Given the description of an element on the screen output the (x, y) to click on. 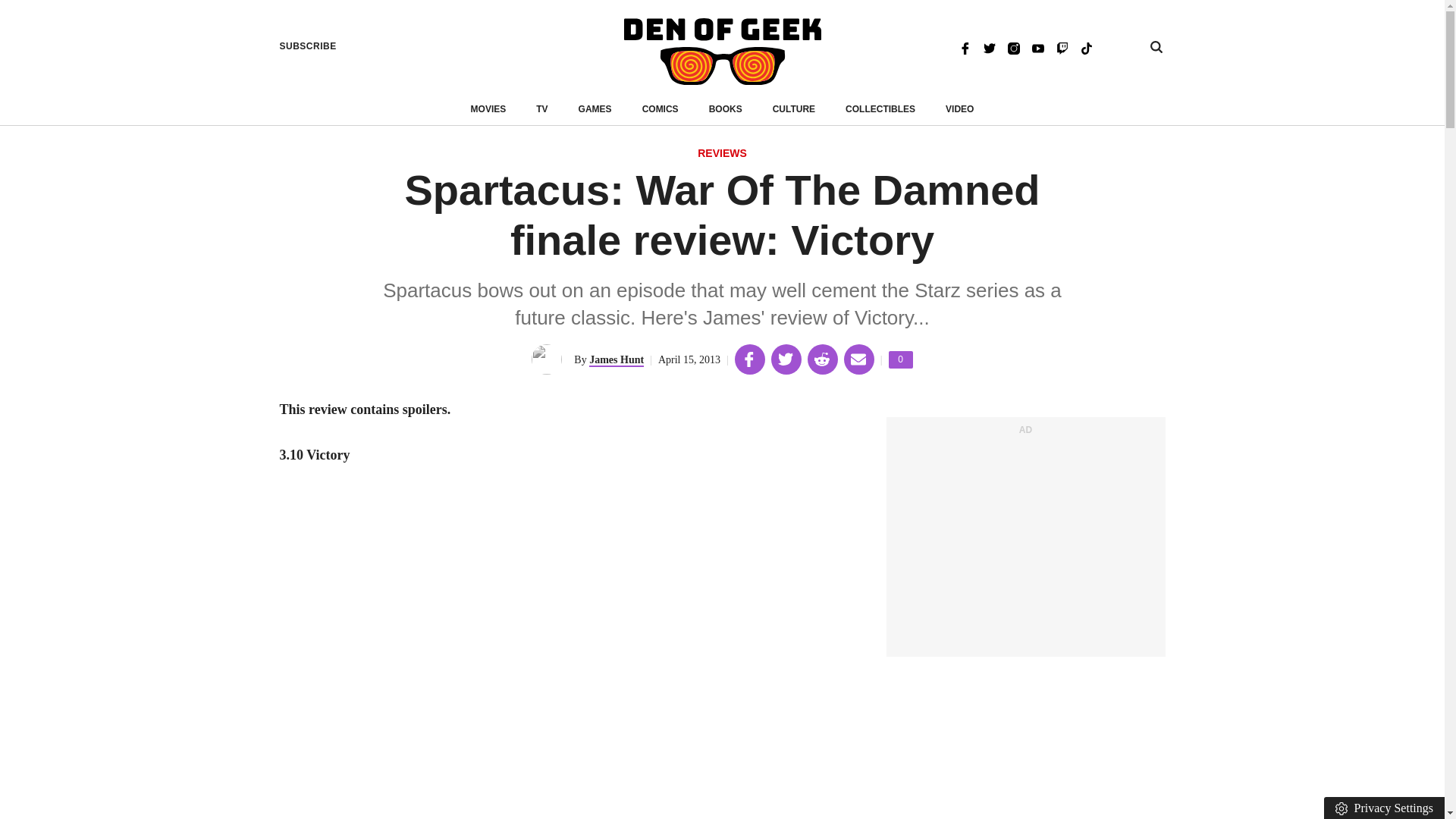
Twitter (988, 46)
James Hunt (616, 359)
SUBSCRIBE (307, 46)
COMICS (660, 109)
Den of Geek (722, 52)
MOVIES (488, 109)
GAMES (594, 109)
COLLECTIBLES (880, 109)
Twitch (1061, 46)
